Given the description of an element on the screen output the (x, y) to click on. 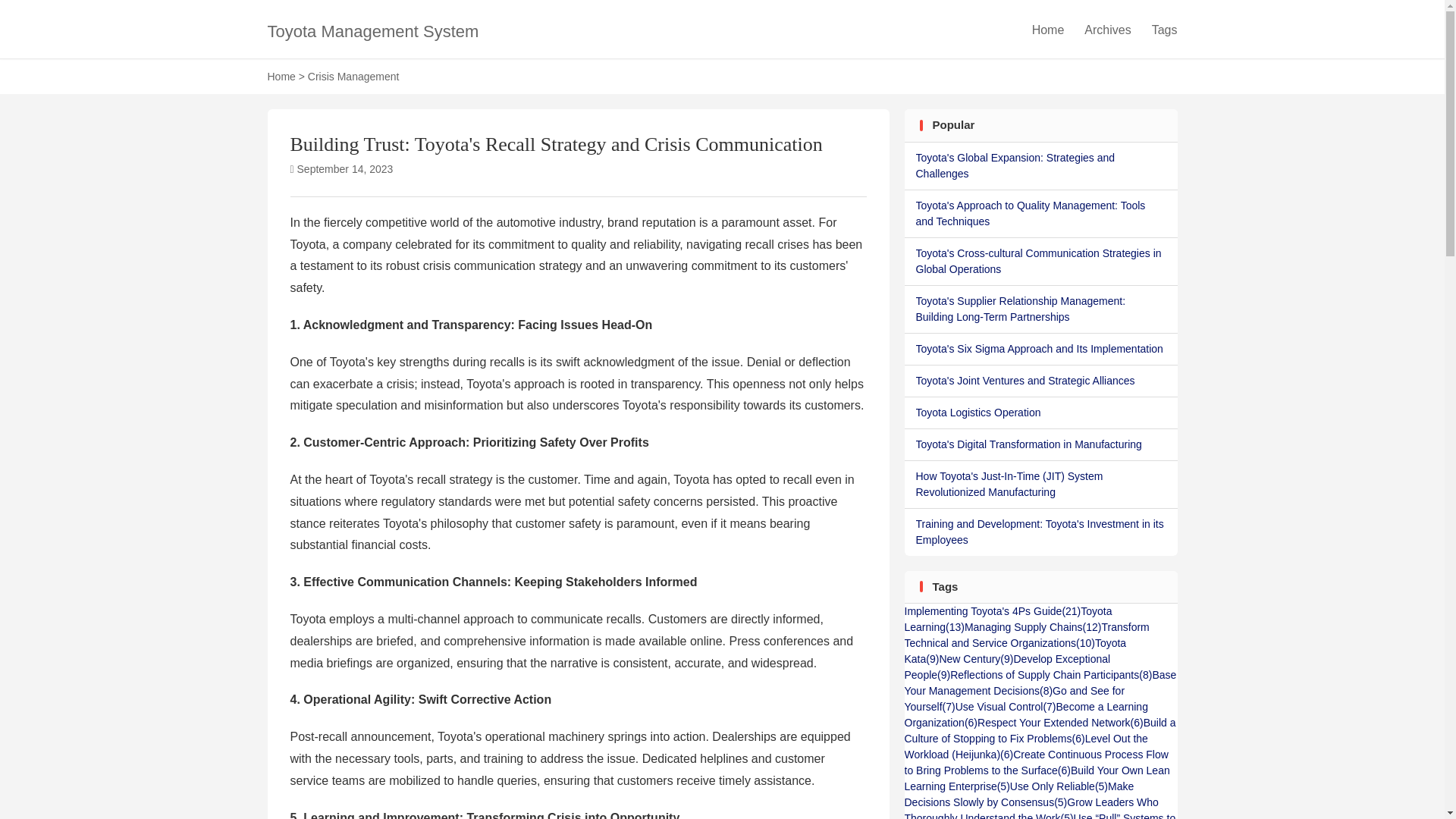
Toyota Management System (372, 30)
Toyota Management System (372, 30)
Toyota Logistics Operation (1040, 412)
Toyota's Six Sigma Approach and Its Implementation (1040, 348)
Crisis Management (352, 76)
Toyota's Joint Ventures and Strategic Alliances (1040, 380)
